Given the description of an element on the screen output the (x, y) to click on. 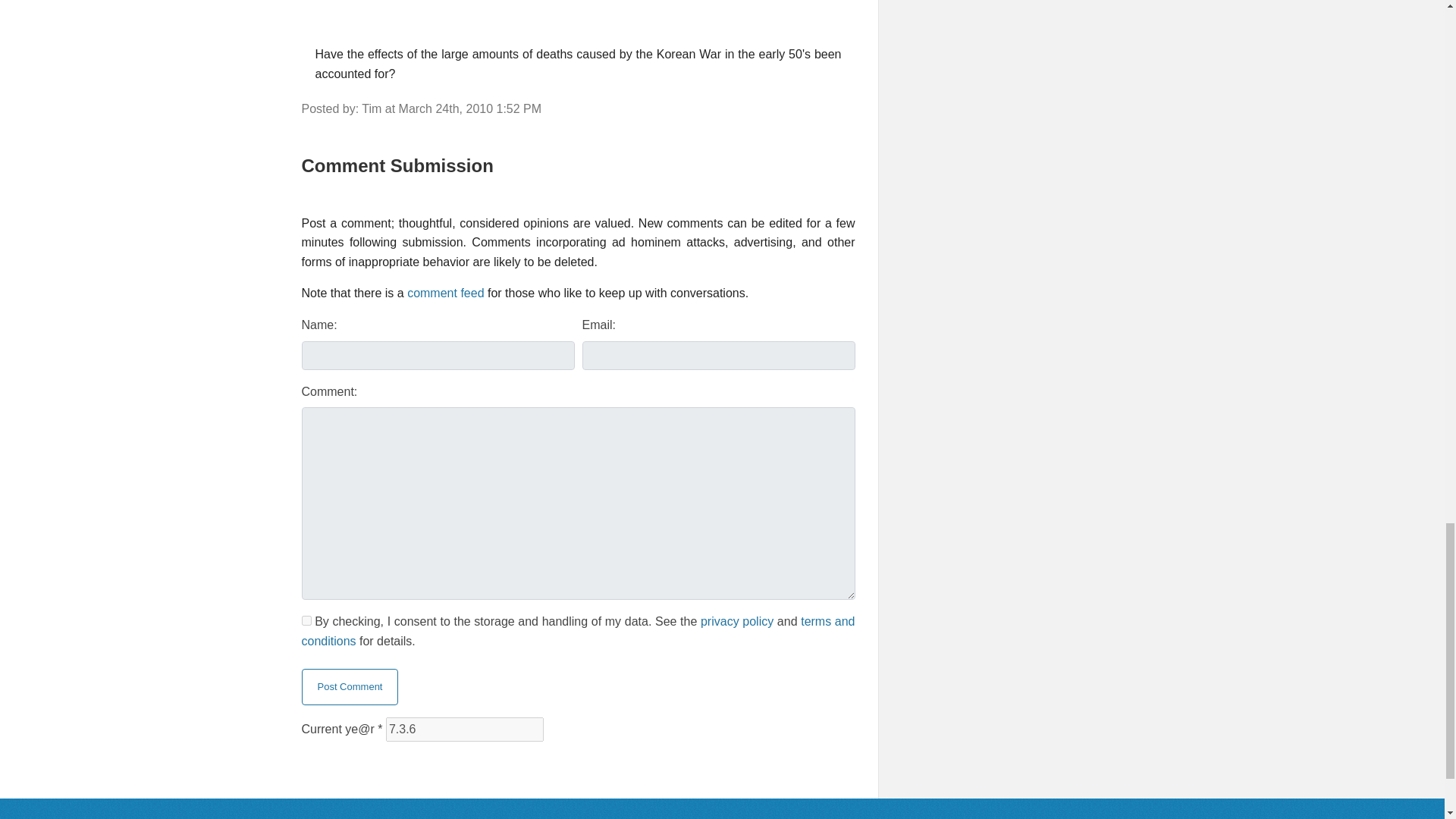
1 (306, 620)
comment feed (445, 292)
7.3.6 (464, 729)
Post Comment (349, 687)
